Given the description of an element on the screen output the (x, y) to click on. 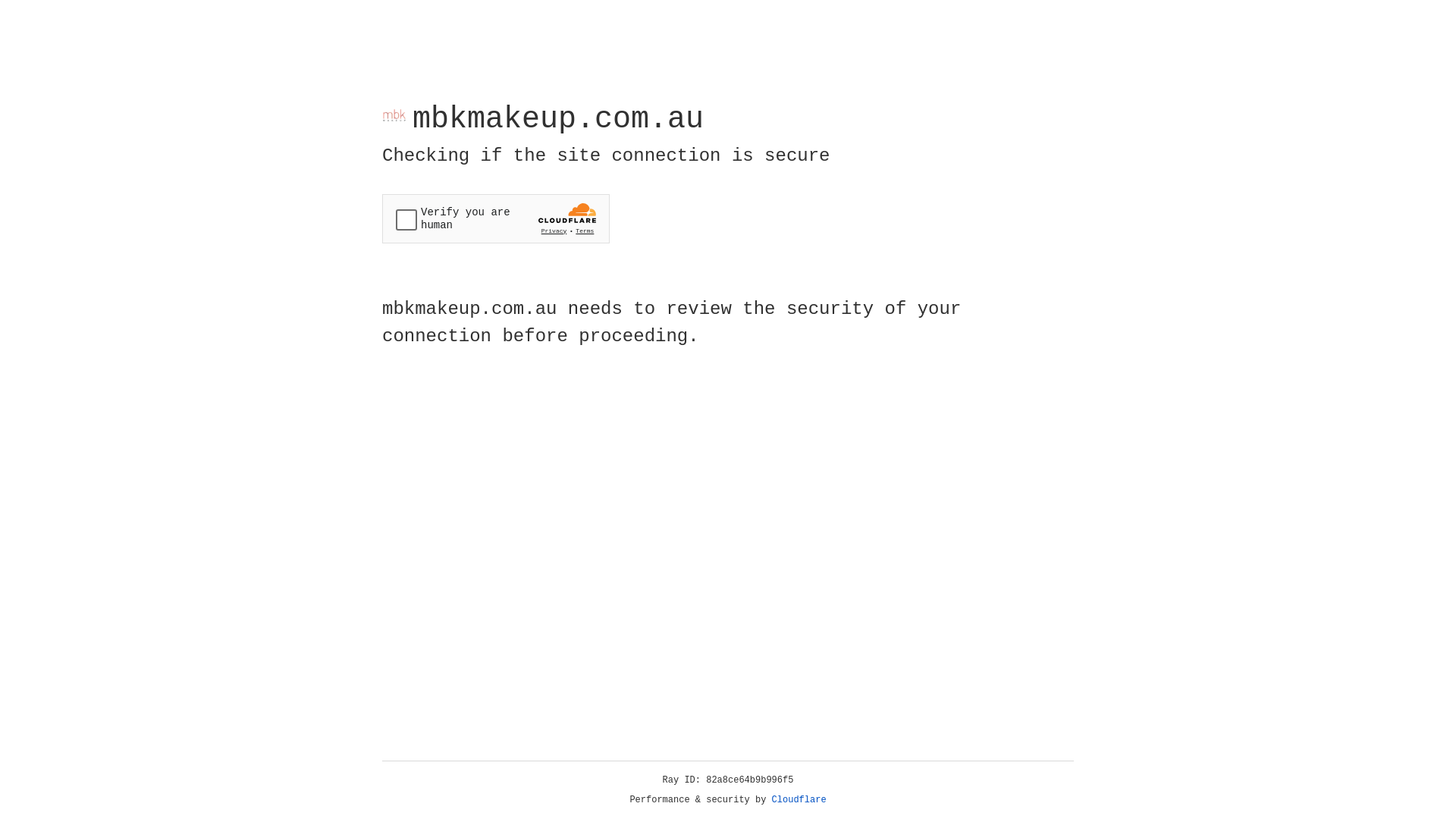
Cloudflare Element type: text (798, 799)
Widget containing a Cloudflare security challenge Element type: hover (495, 218)
